Given the description of an element on the screen output the (x, y) to click on. 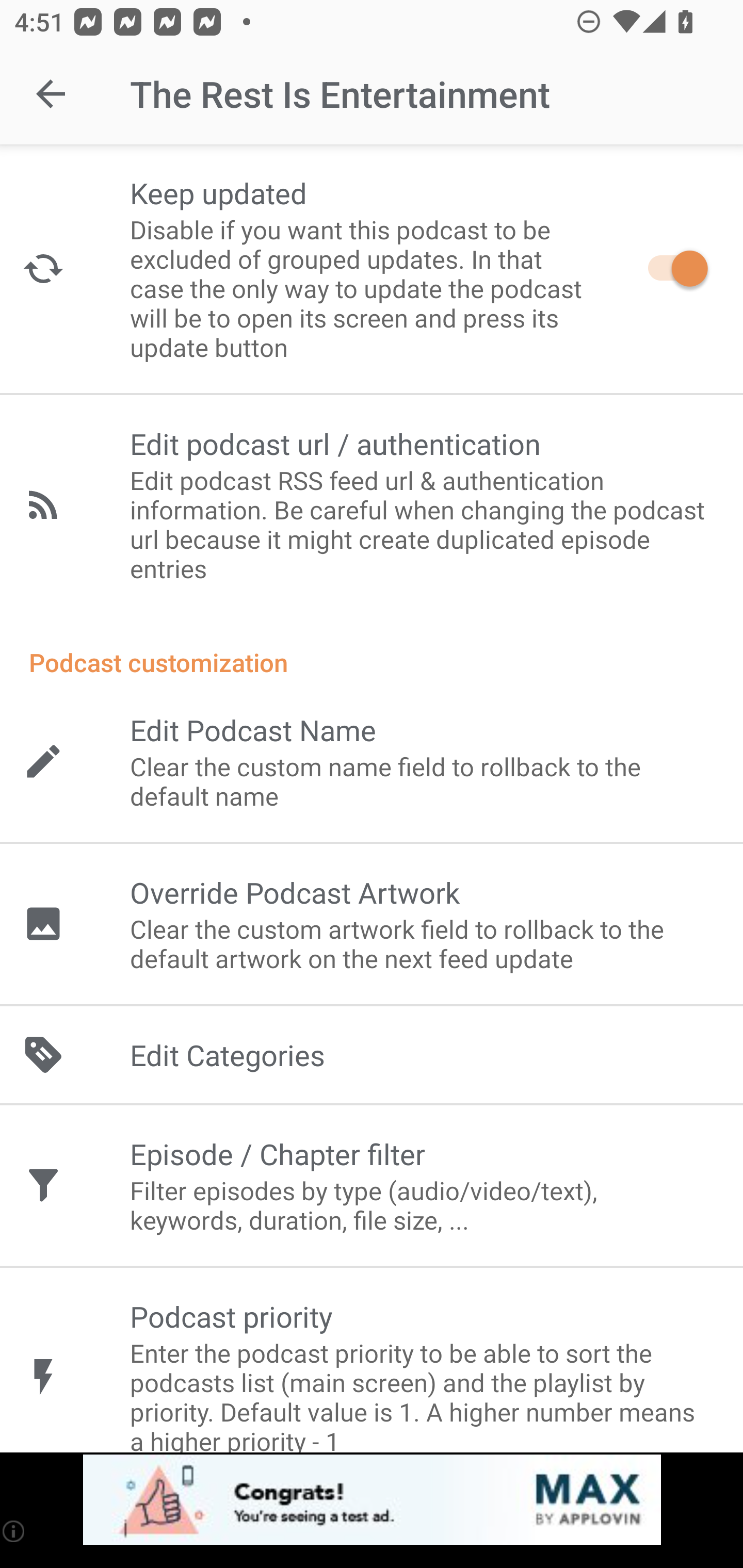
Navigate up (50, 93)
Edit Categories (371, 1054)
app-monetization (371, 1500)
(i) (14, 1531)
